Given the description of an element on the screen output the (x, y) to click on. 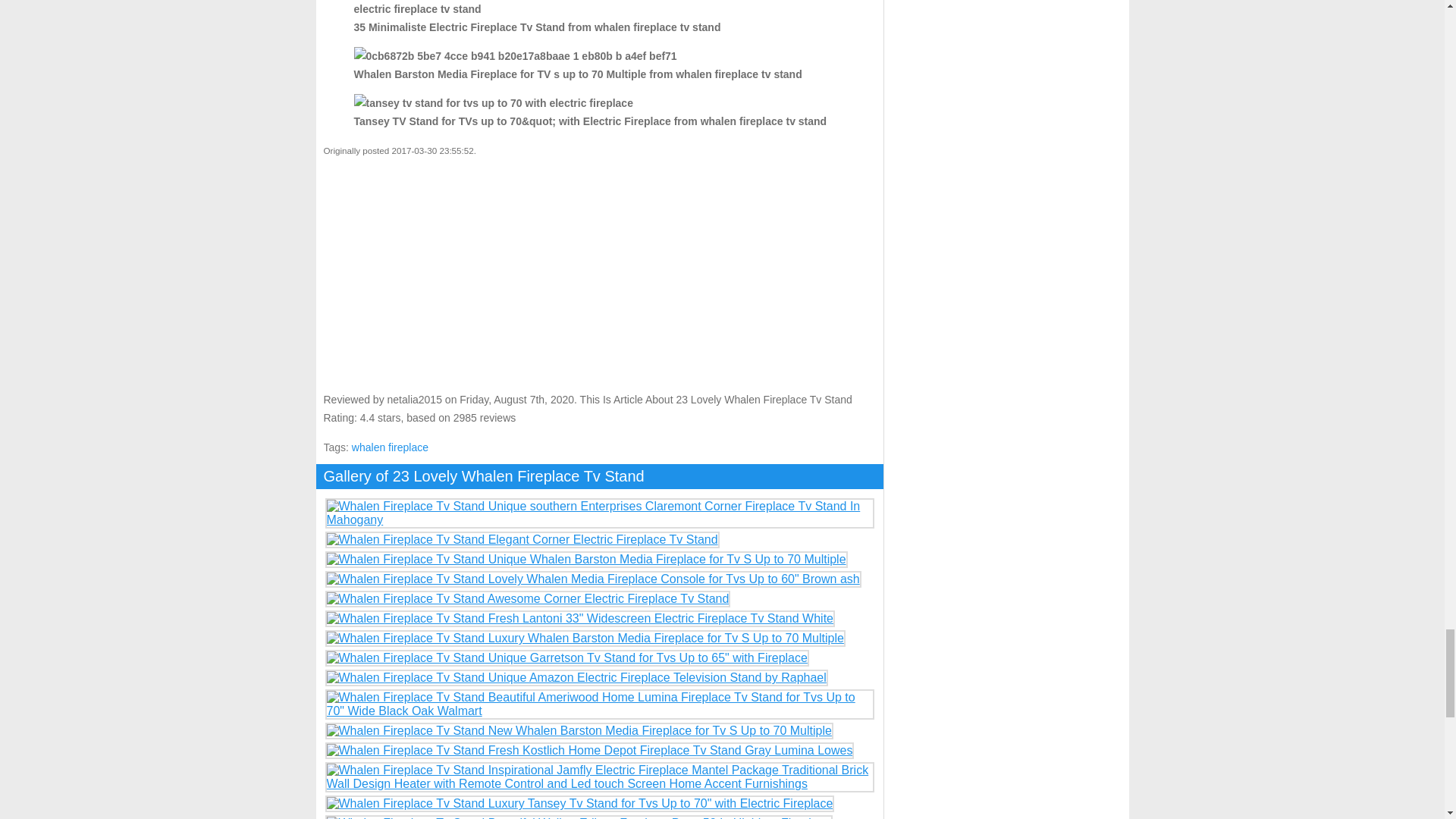
Whalen Barston Media Fireplace for TV s up to 70 Multiple (515, 55)
whalen fireplace (390, 447)
35 Minimaliste Electric Fireplace Tv Stand (598, 9)
Tansey TV Stand for TVs up to 70" with Electric Fireplace (492, 103)
